Given the description of an element on the screen output the (x, y) to click on. 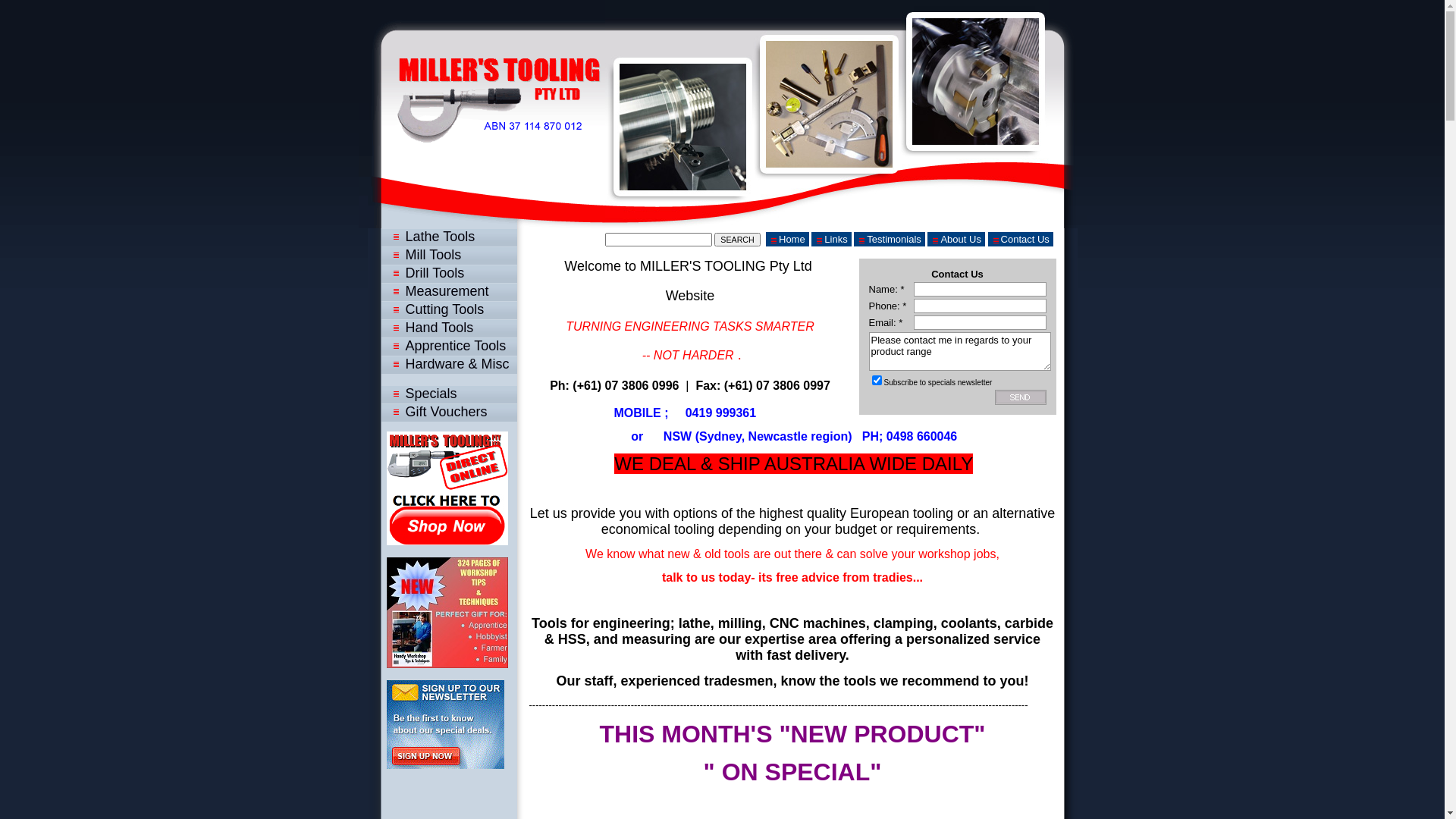
About Us Element type: text (955, 239)
Specials Element type: text (445, 393)
Drill Tools Element type: text (445, 272)
Apprentice Tools Element type: text (445, 345)
Cutting Tools Element type: text (445, 309)
Testimonials Element type: text (889, 239)
Links Element type: text (830, 239)
Gift Vouchers Element type: text (445, 411)
Hardware & Misc Element type: text (445, 363)
Measurement Element type: text (445, 290)
Contact Us Element type: text (1020, 239)
Home Element type: text (787, 239)
Hand Tools Element type: text (445, 327)
SEARCH Element type: text (736, 239)
Lathe Tools Element type: text (445, 236)
Mill Tools Element type: text (445, 254)
